Given the description of an element on the screen output the (x, y) to click on. 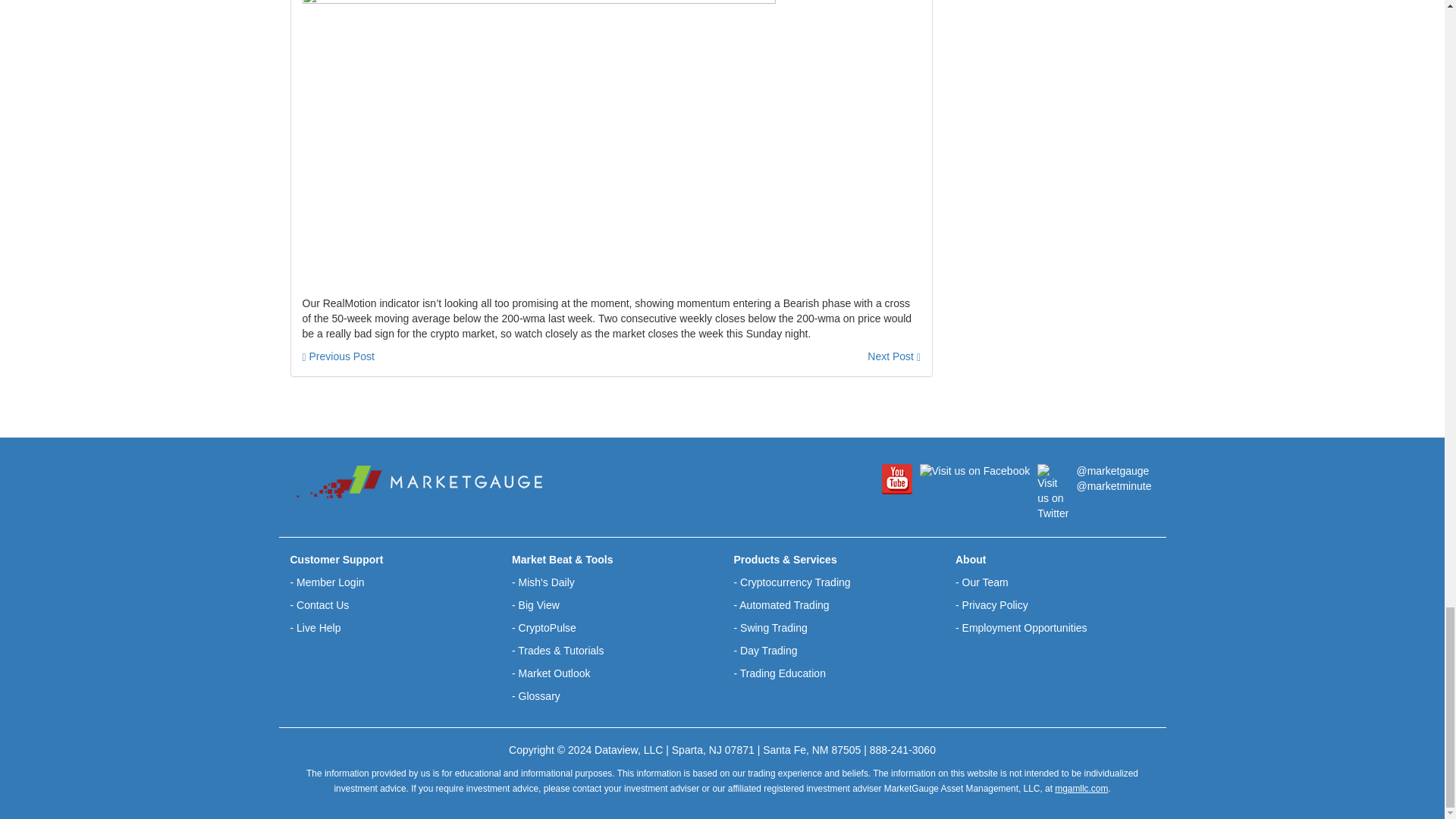
Visit us on YouTube (895, 479)
MarketGauge.com (418, 482)
Visit us on Facebook (973, 471)
